Given the description of an element on the screen output the (x, y) to click on. 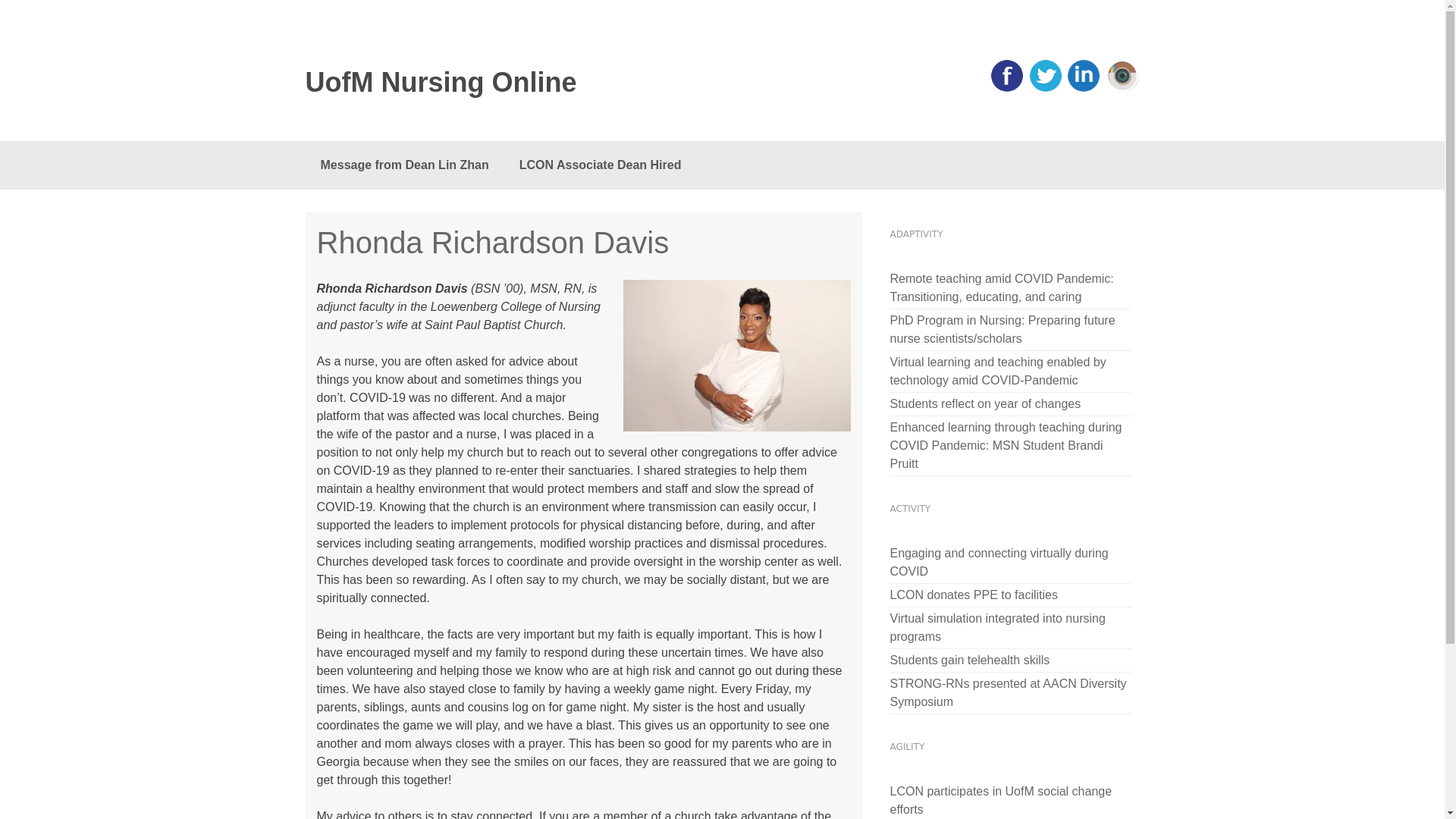
UofM Nursing Online (471, 82)
Message from Dean Lin Zhan (403, 164)
Twitter (1044, 88)
Students reflect on year of changes (985, 404)
Facebook (1007, 88)
LCON Associate Dean Hired (600, 164)
STRONG-RNs presented at AACN Diversity Symposium (1010, 692)
Virtual simulation integrated into nursing programs (1010, 627)
LCON participates in UofM social change efforts (1010, 799)
